Given the description of an element on the screen output the (x, y) to click on. 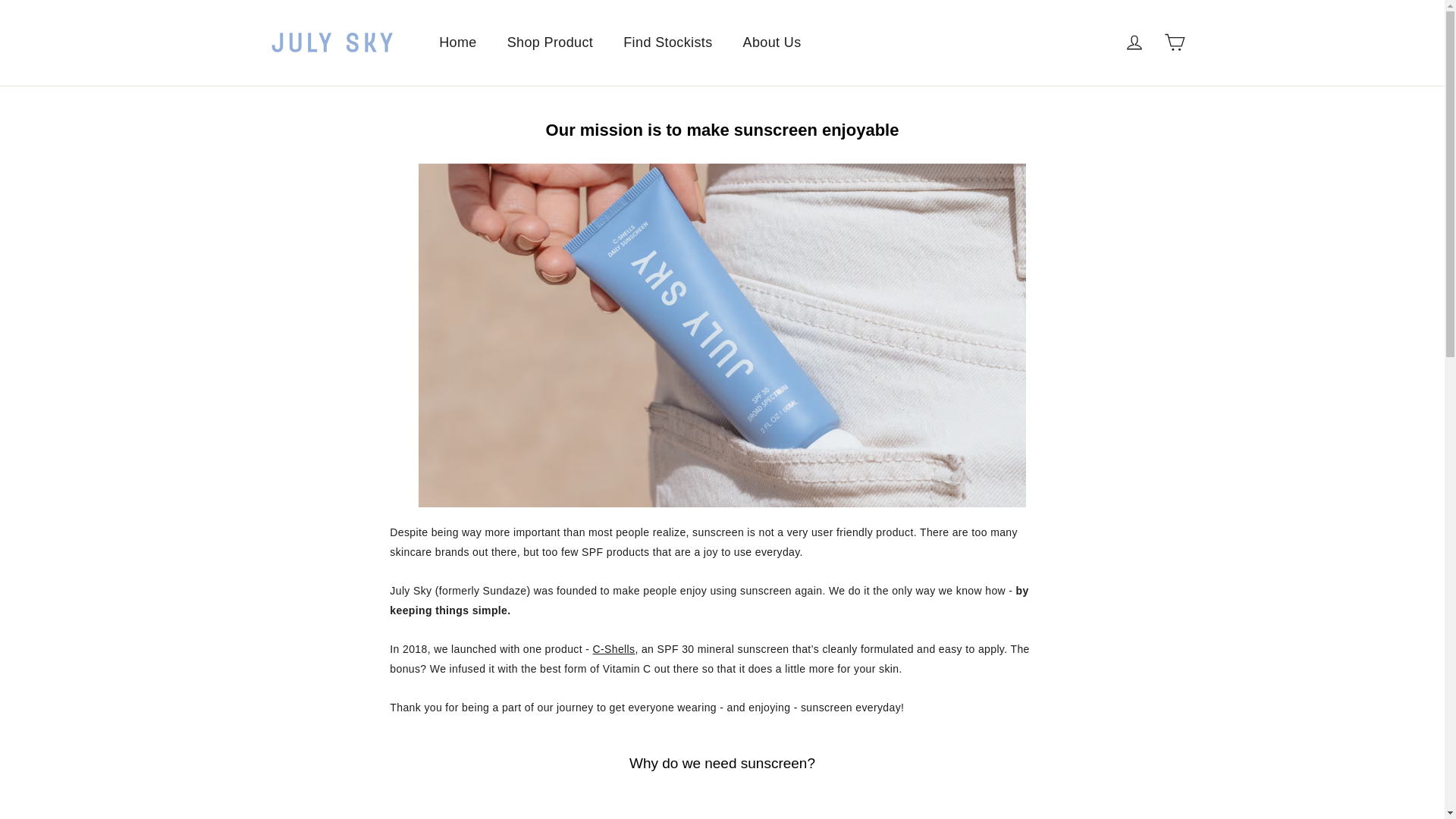
Find Stockists (667, 42)
About Us (772, 42)
July Sky C-Shells SPF 30 Sunscreen (613, 648)
C-Shells (613, 648)
Log in (1134, 42)
Cart (1173, 42)
Home (457, 42)
Shop Product (550, 42)
